Given the description of an element on the screen output the (x, y) to click on. 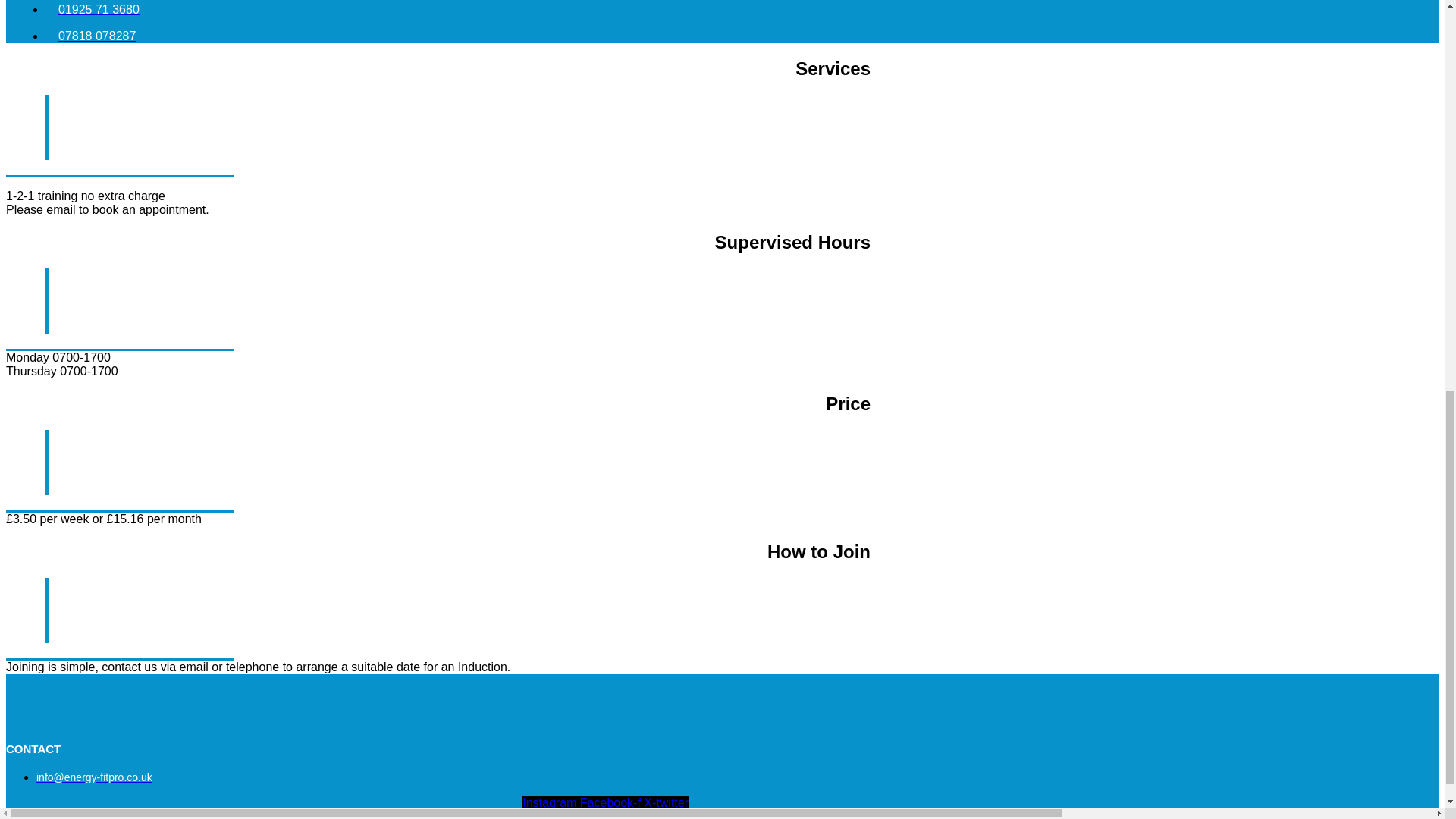
Facebook-f (612, 802)
01925 71 3680 (92, 9)
07818 078287 (90, 35)
Instagram (550, 802)
X-twitter (665, 802)
